Given the description of an element on the screen output the (x, y) to click on. 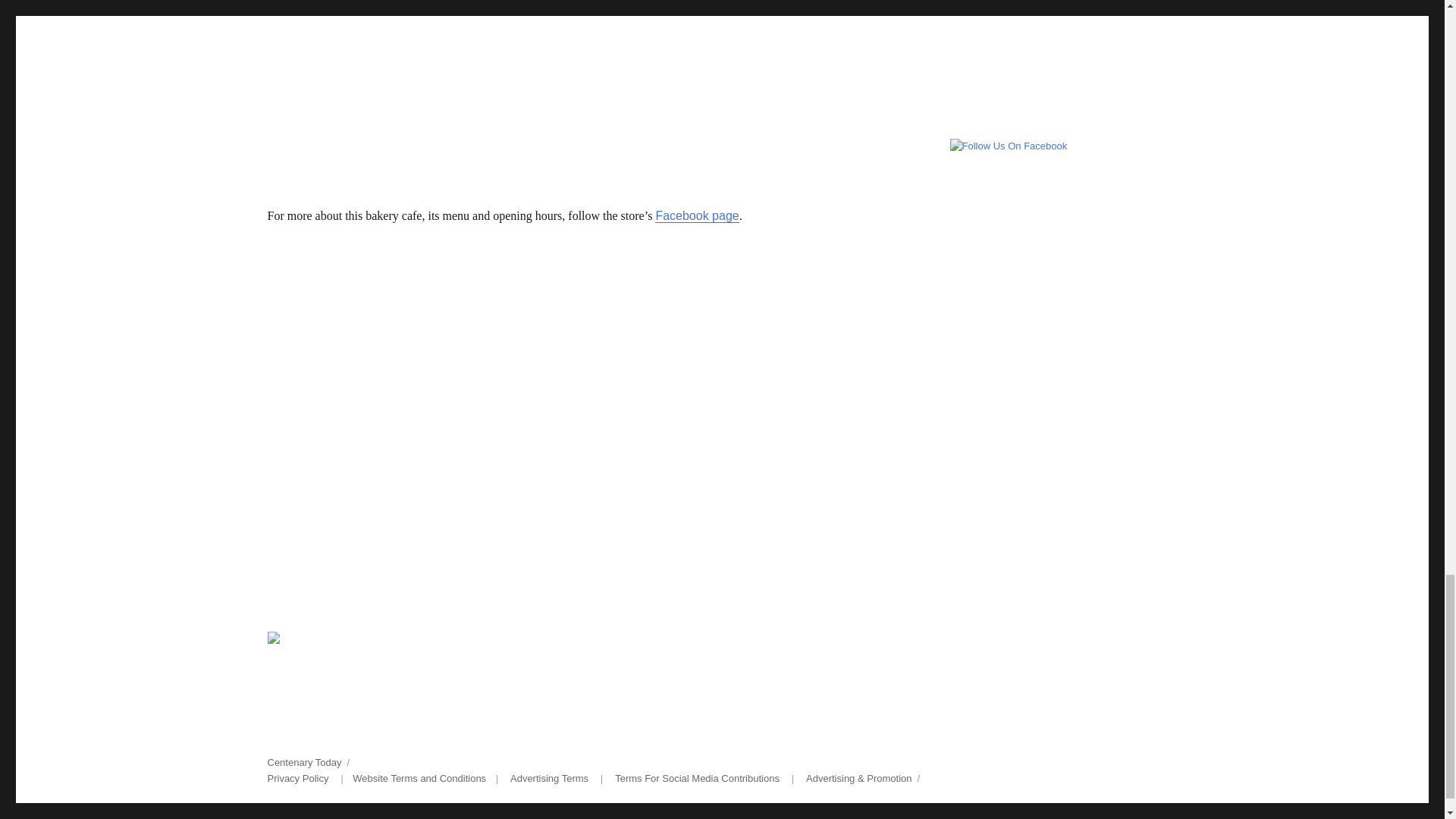
Centenary Today (303, 762)
Facebook page (696, 215)
